Given the description of an element on the screen output the (x, y) to click on. 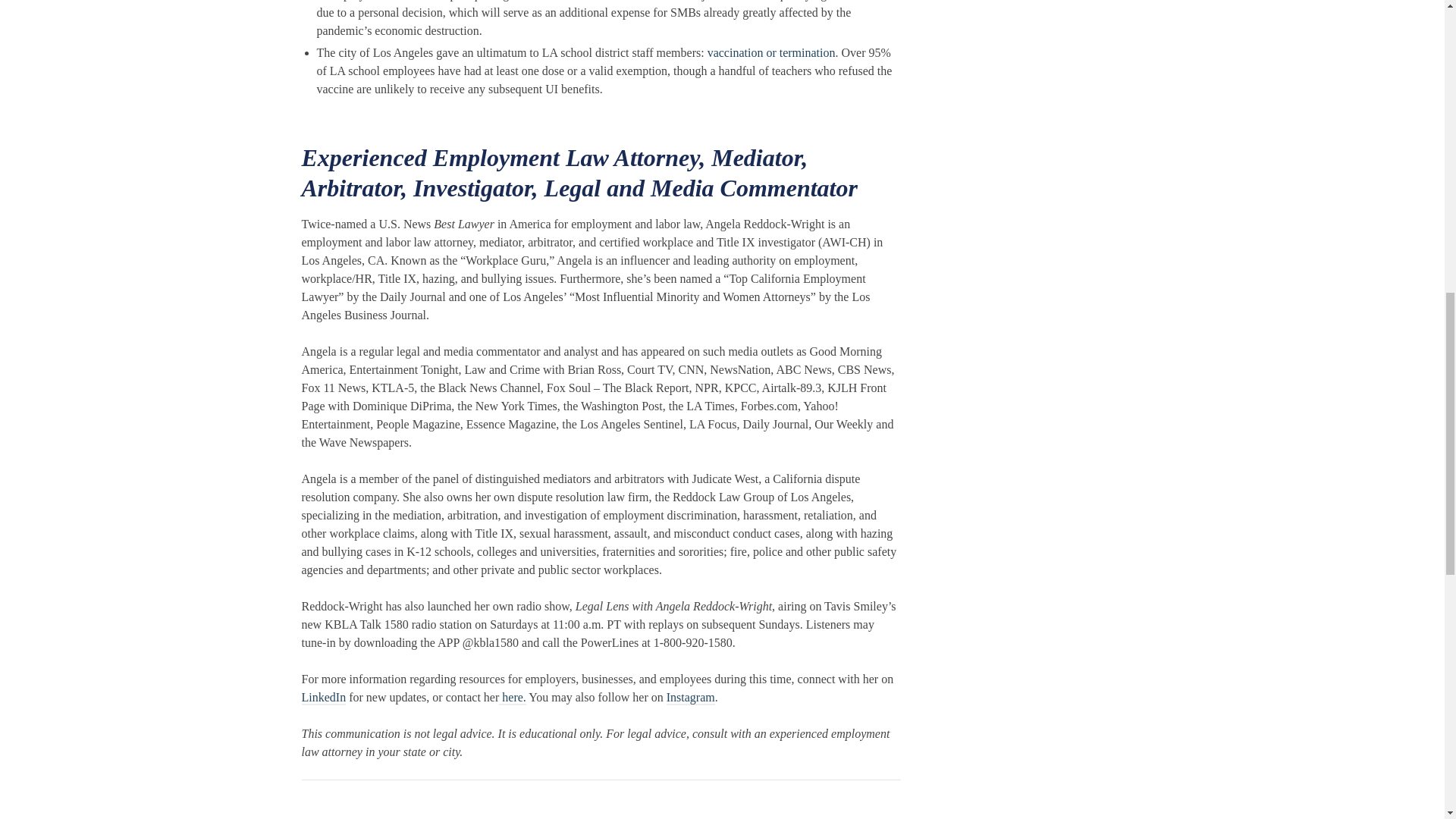
LinkedIn (323, 698)
here. (512, 698)
vaccination or termination (771, 51)
Instagram (690, 698)
